Given the description of an element on the screen output the (x, y) to click on. 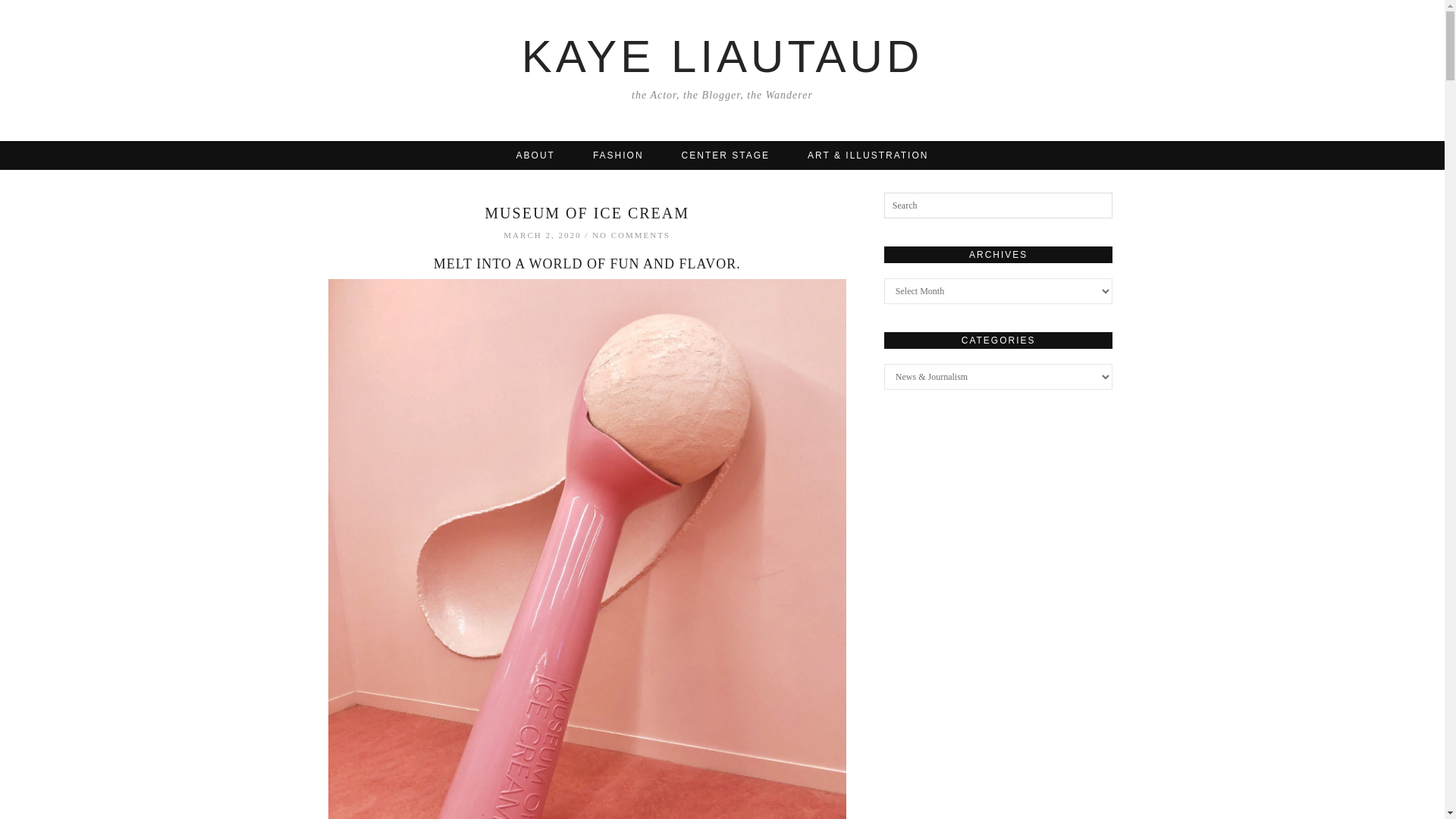
MUSEUM OF ICE CREAM (586, 212)
NO COMMENTS (630, 234)
FASHION (617, 154)
Kaye Liautaud (722, 56)
Search for: (998, 205)
ABOUT (535, 154)
CENTER STAGE (725, 154)
KAYE LIAUTAUD (722, 56)
